Given the description of an element on the screen output the (x, y) to click on. 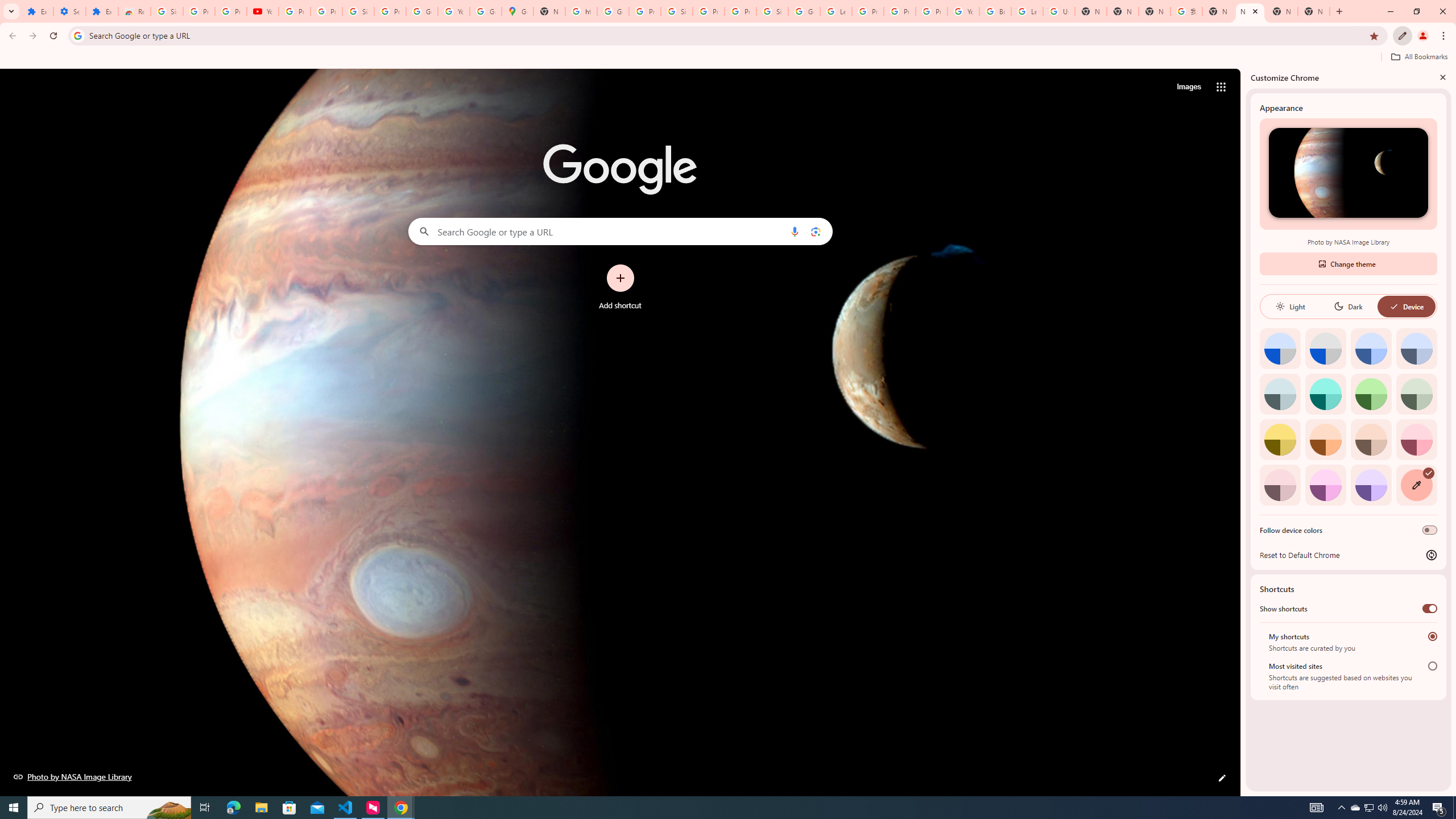
Search by voice (794, 230)
Customize Chrome (1402, 35)
YouTube (262, 11)
Grey default color (1325, 348)
Search Google or type a URL (619, 230)
Side Panel Resize Handle (1242, 431)
New Tab (1313, 11)
Rose (1416, 439)
Photo by NASA Image Library (72, 776)
Viridian (1416, 393)
